Given the description of an element on the screen output the (x, y) to click on. 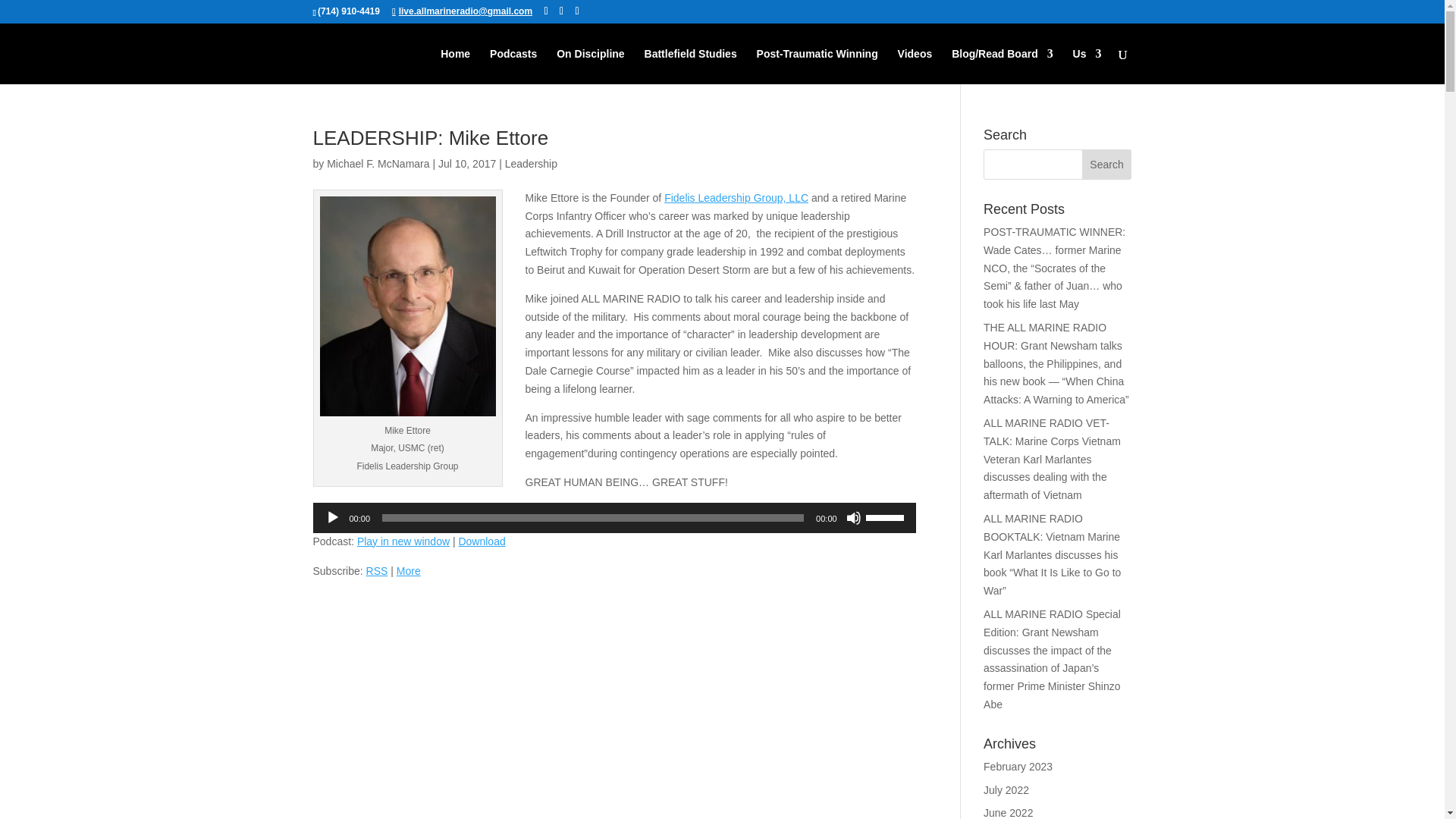
Videos (915, 66)
Search (1106, 164)
Michael F. McNamara (377, 163)
Post-Traumatic Winning (817, 66)
LEADERSHIP: Mike Ettore (430, 137)
Podcasts (513, 66)
Leadership (531, 163)
Posts by Michael F. McNamara (377, 163)
Battlefield Studies (690, 66)
Play in new window (402, 541)
Download (481, 541)
Fidelis Leadership Group, LLC (735, 197)
Subscribe via RSS (377, 571)
Play (331, 517)
More (408, 571)
